Given the description of an element on the screen output the (x, y) to click on. 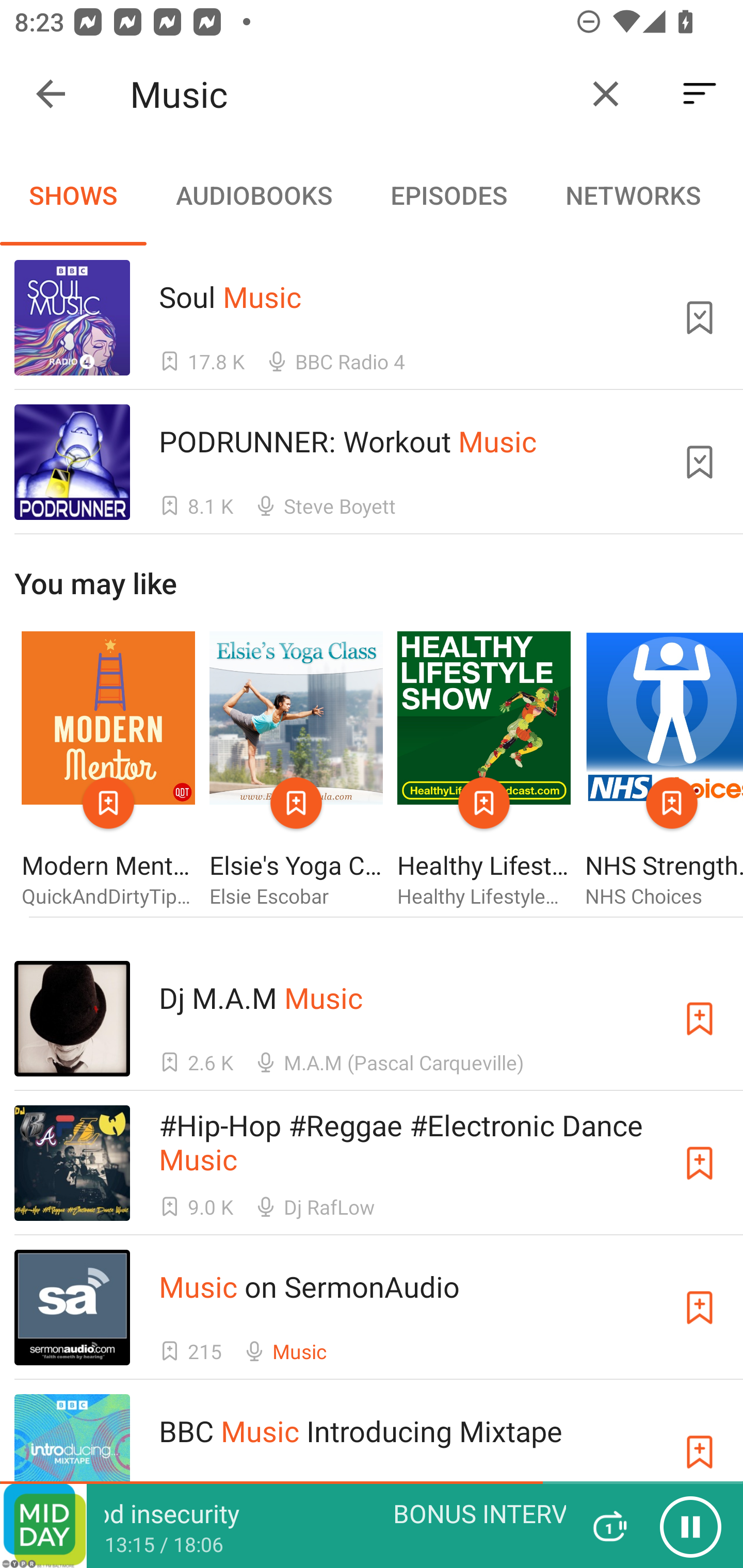
Collapse (50, 93)
Clear query (605, 93)
Sort By (699, 93)
Music (349, 94)
SHOWS (73, 195)
AUDIOBOOKS (253, 195)
EPISODES (448, 195)
NETWORKS (632, 195)
Unsubscribe (699, 317)
Unsubscribe (699, 462)
Modern Mentor QuickAndDirtyTips.com (107, 770)
Elsie's Yoga Class Elsie Escobar (295, 770)
Healthy Lifestyle Show Healthy Lifestyle Academy (483, 770)
NHS Strength and Flexibility NHS Choices (664, 770)
Subscribe (699, 1019)
Subscribe (699, 1163)
Subscribe (699, 1307)
Subscribe (699, 1451)
Pause (690, 1526)
